Given the description of an element on the screen output the (x, y) to click on. 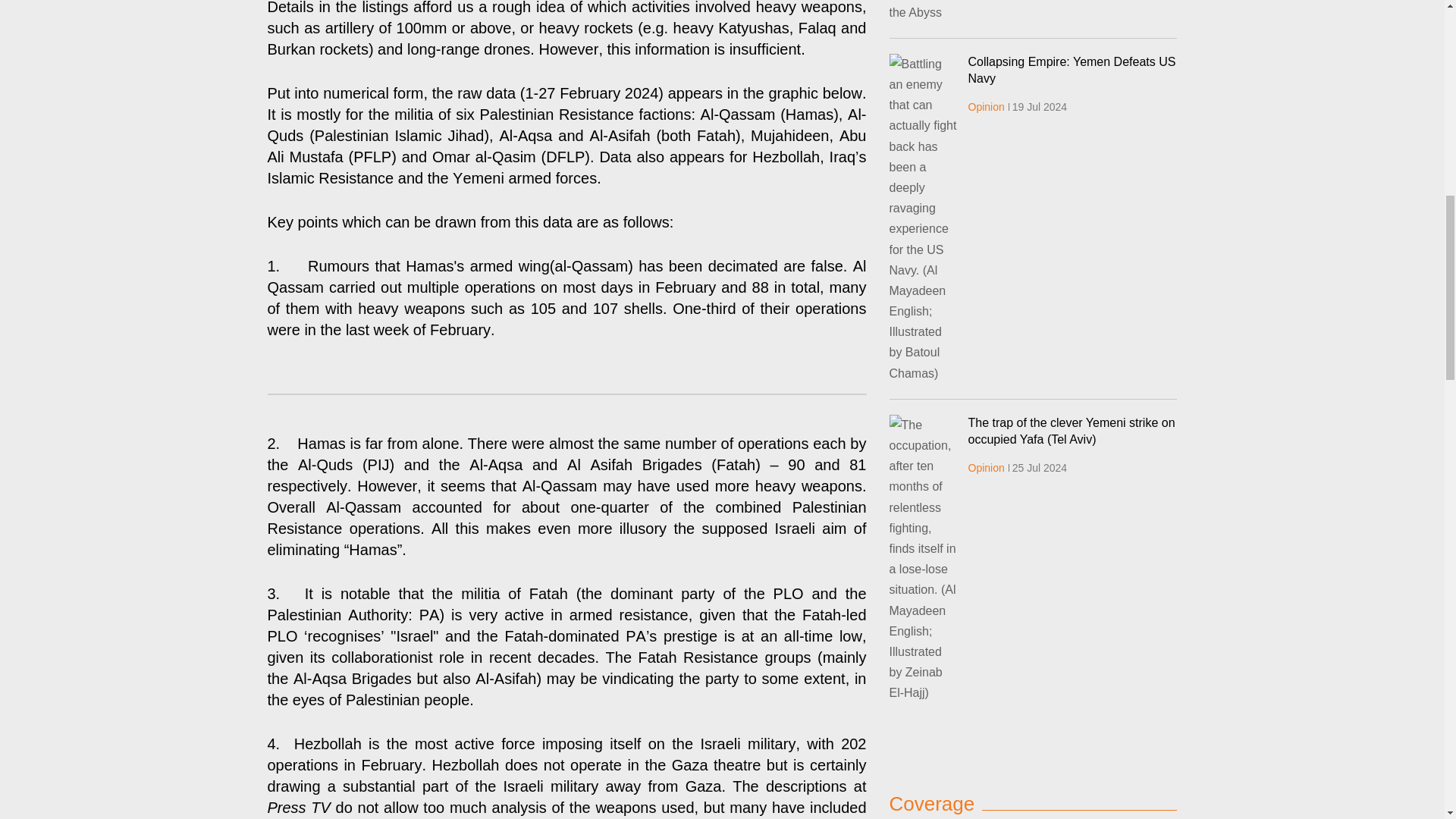
Opinion (986, 467)
The Slow-Motion Advance to the Edge of the Abyss (922, 11)
Opinion (986, 106)
